Given the description of an element on the screen output the (x, y) to click on. 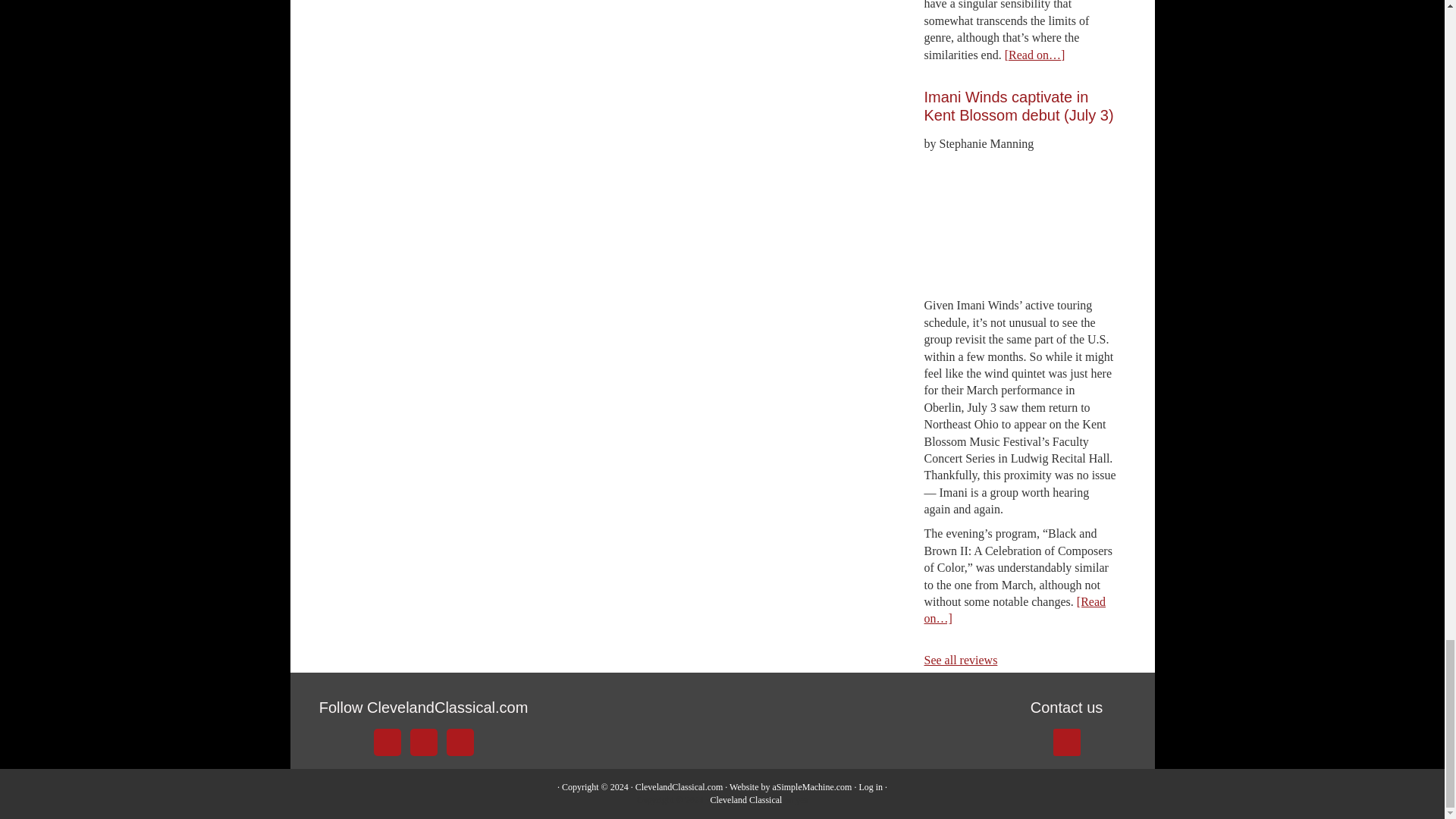
Reviews (960, 659)
